Given the description of an element on the screen output the (x, y) to click on. 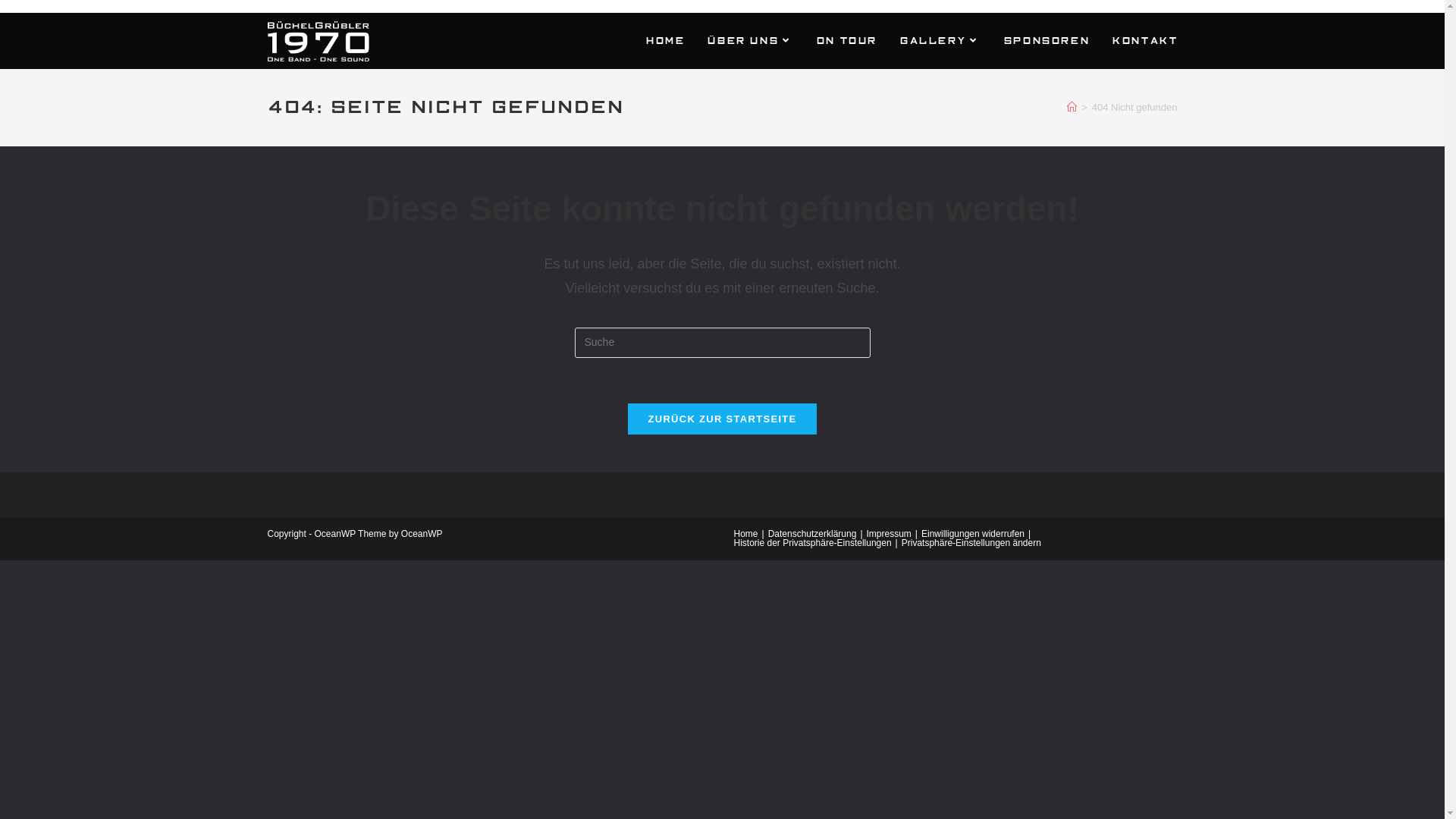
ON TOUR Element type: text (846, 40)
Einwilligungen widerrufen Element type: text (972, 533)
KONTAKT Element type: text (1144, 40)
Home Element type: text (746, 533)
GALLERY Element type: text (939, 40)
SPONSOREN Element type: text (1045, 40)
Impressum Element type: text (888, 533)
HOME Element type: text (664, 40)
